Given the description of an element on the screen output the (x, y) to click on. 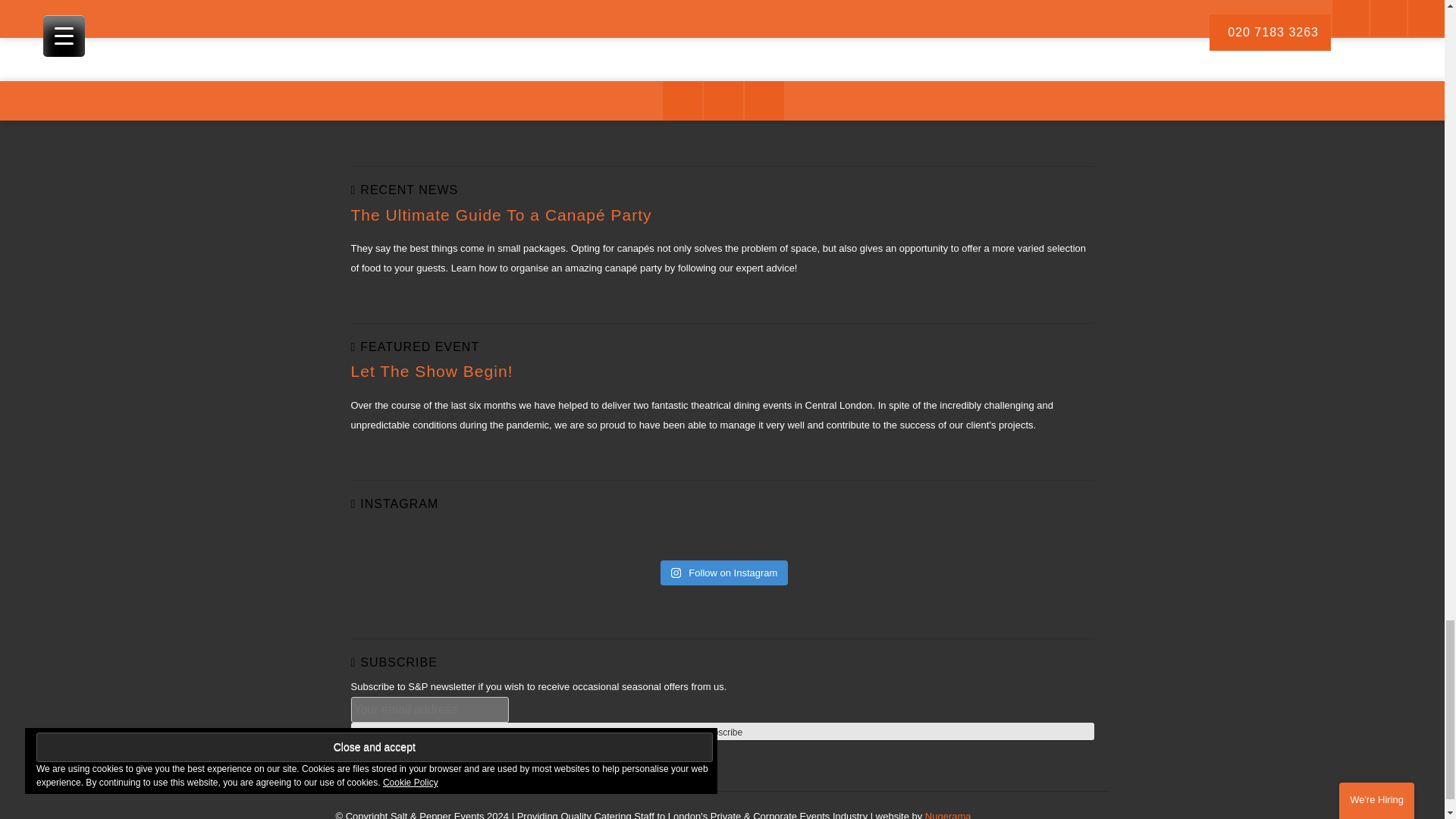
Subscribe (721, 730)
Let The Show Begin! (431, 371)
Subscribe (721, 730)
Follow on Instagram (725, 573)
